Given the description of an element on the screen output the (x, y) to click on. 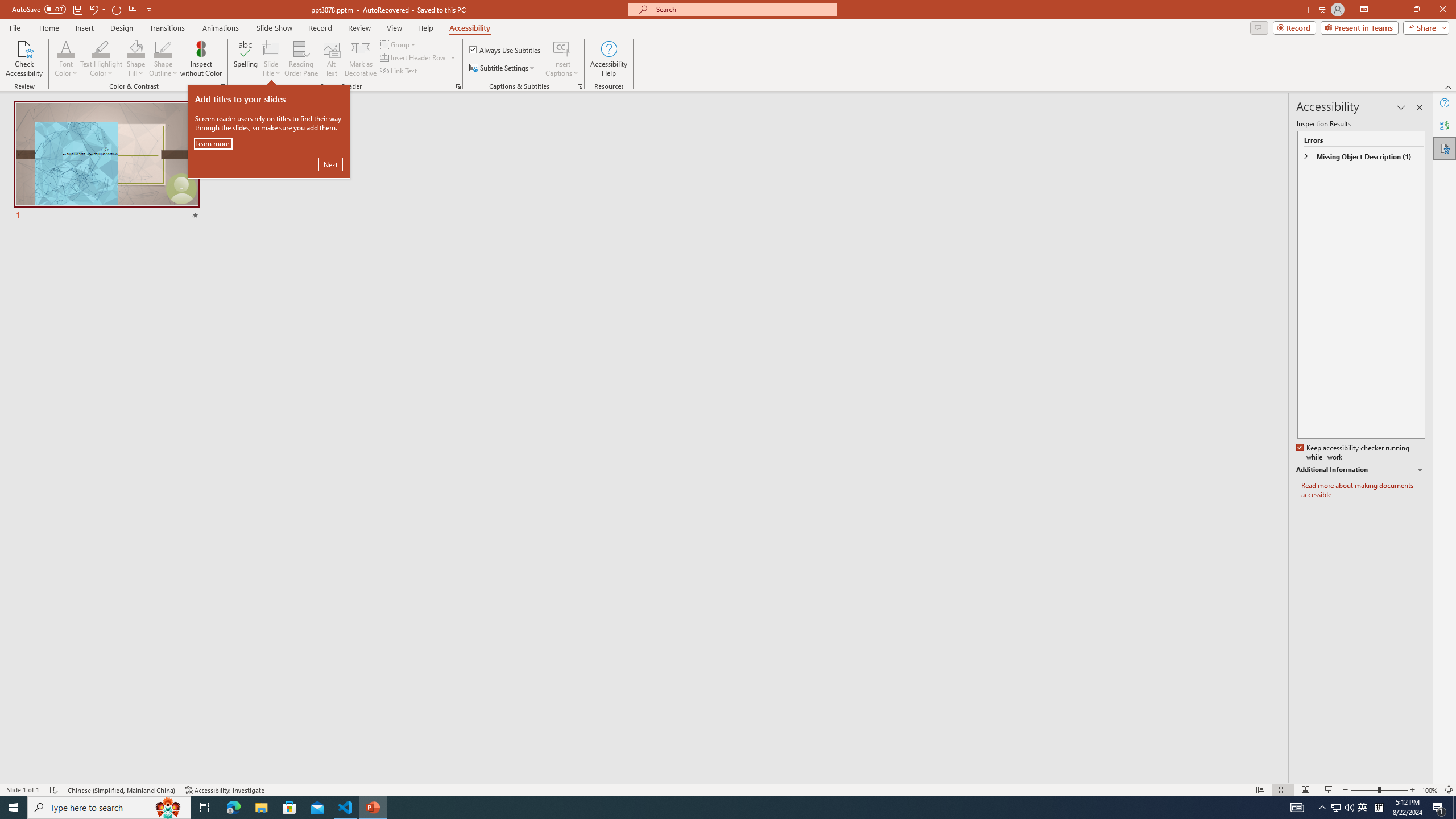
Additional Information (1360, 469)
Insert Captions (561, 48)
Next (330, 164)
Learn more (213, 143)
Mark as Decorative (360, 58)
